Given the description of an element on the screen output the (x, y) to click on. 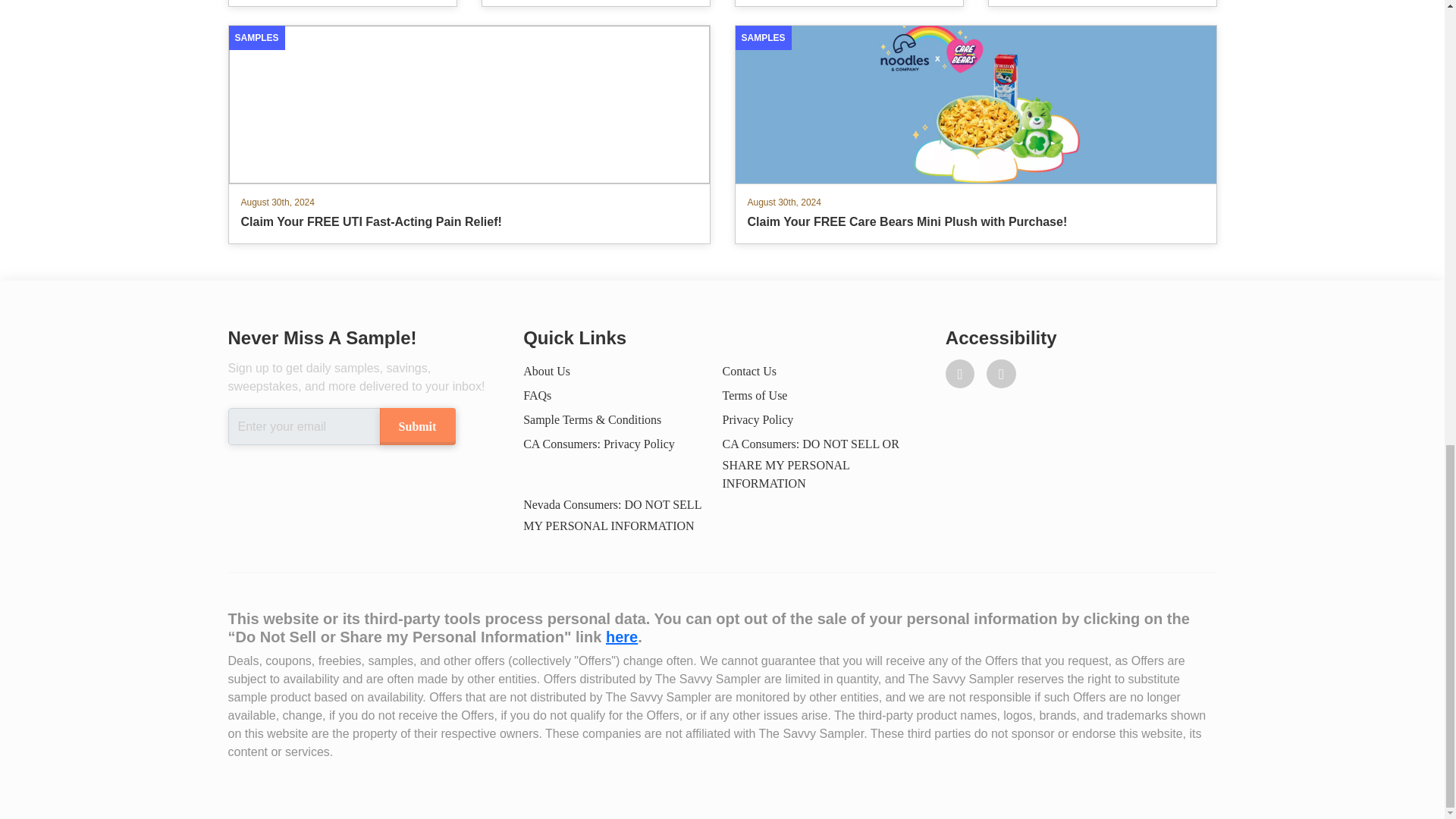
Terms of Use (754, 395)
Nevada Consumers: DO NOT SELL MY PERSONAL INFORMATION (611, 514)
Contact Us (749, 370)
CA Consumers: DO NOT SELL OR SHARE MY PERSONAL INFORMATION (810, 463)
Privacy Policy (757, 419)
here (621, 636)
About Us (546, 370)
CA Consumers: Privacy Policy (598, 443)
FAQs (536, 395)
